Given the description of an element on the screen output the (x, y) to click on. 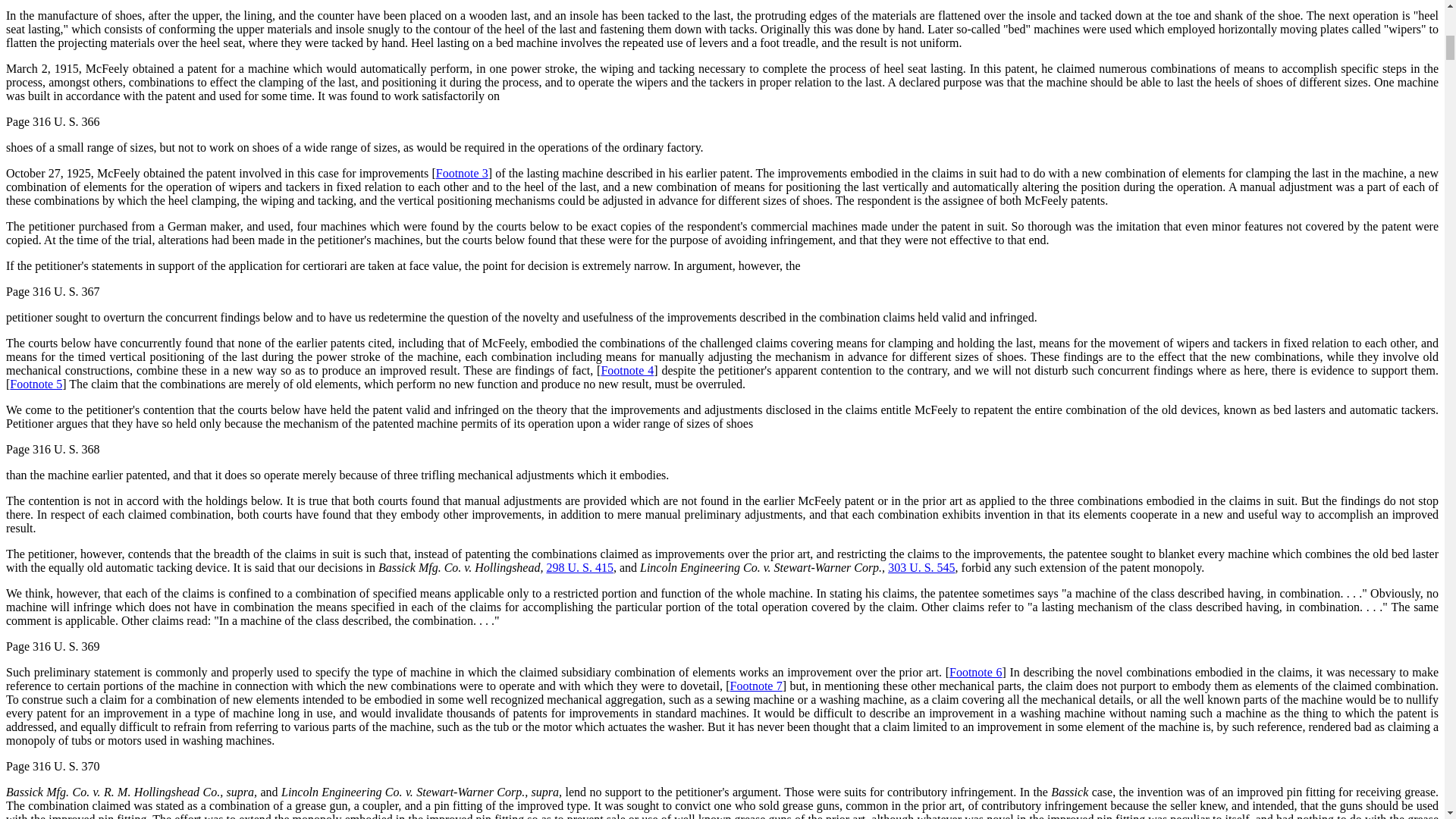
Page 316 U. S. 369 (52, 645)
298 U. S. 415 (579, 567)
Page 316 U. S. 370 (52, 766)
Footnote 4 (626, 369)
Footnote 5 (36, 383)
303 U. S. 545 (921, 567)
Page 316 U. S. 366 (52, 121)
Footnote 7 (756, 685)
Footnote 6 (976, 671)
Footnote 3 (461, 173)
